Given the description of an element on the screen output the (x, y) to click on. 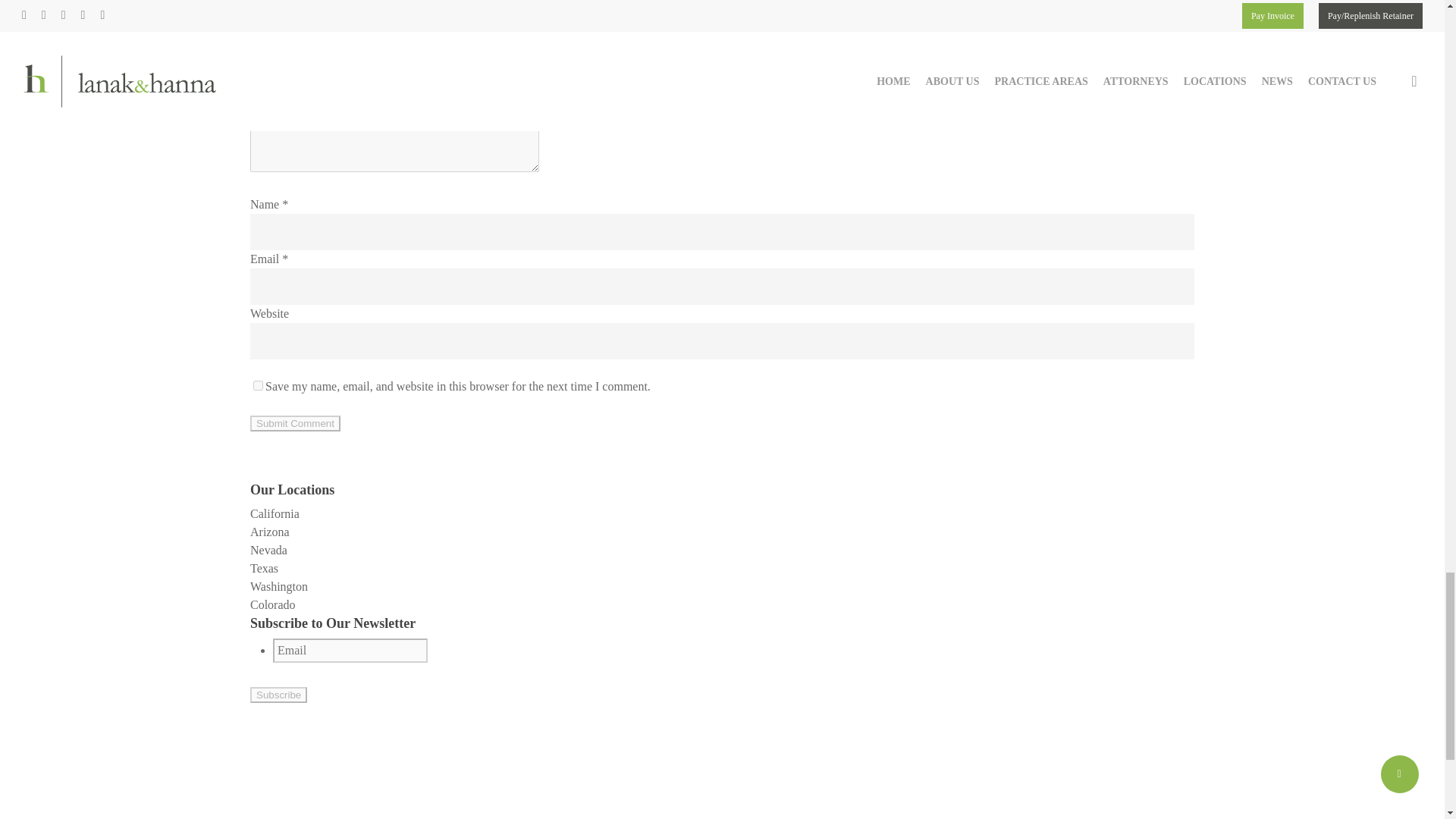
yes (258, 385)
Subscribe (278, 694)
Submit Comment (295, 423)
